Given the description of an element on the screen output the (x, y) to click on. 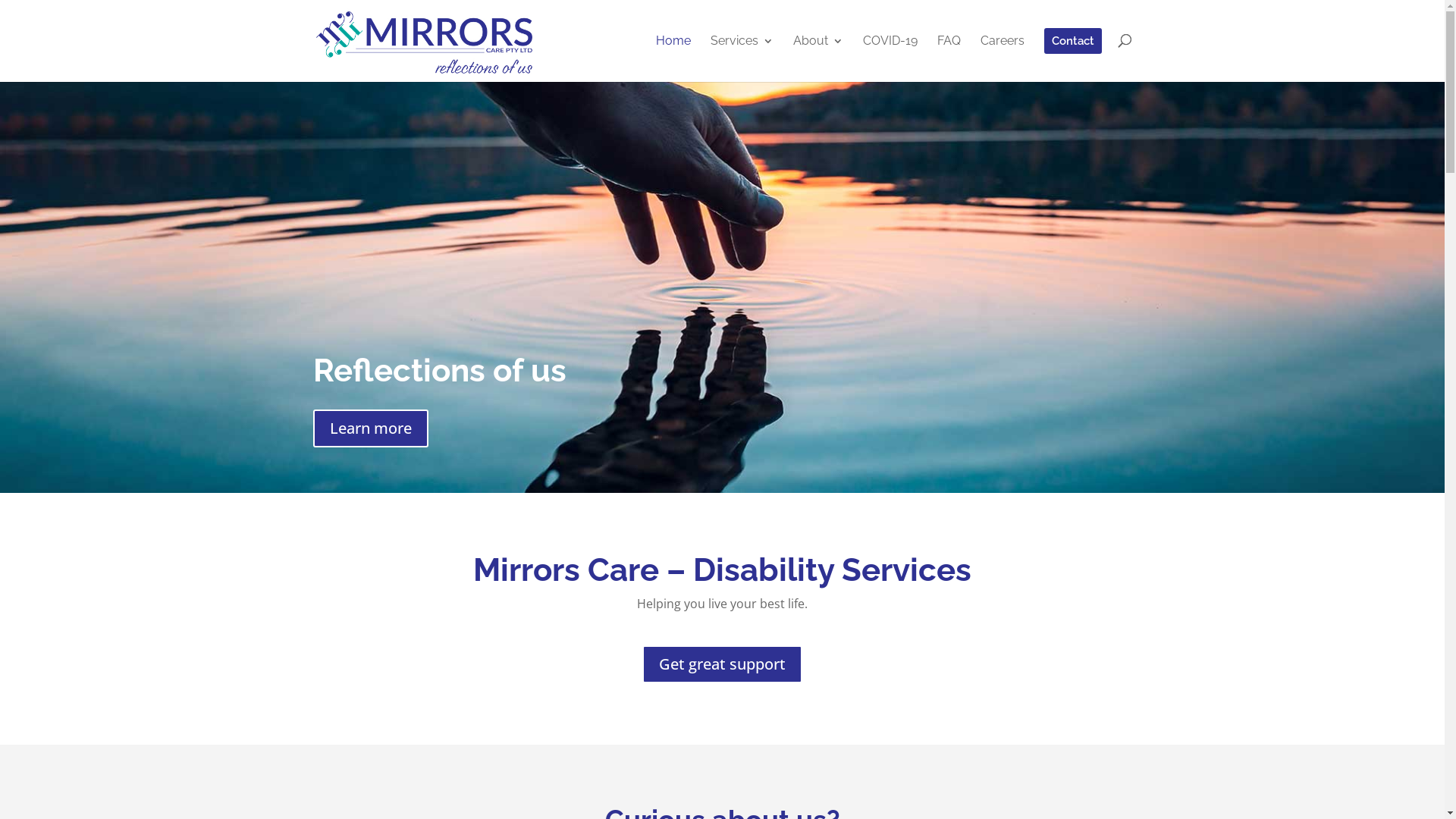
Careers Element type: text (1001, 57)
Get great support Element type: text (722, 664)
Home Element type: text (672, 57)
COVID-19 Element type: text (889, 57)
About Element type: text (818, 57)
Learn more Element type: text (369, 428)
FAQ Element type: text (948, 57)
Services Element type: text (740, 57)
Contact Element type: text (1072, 54)
